Given the description of an element on the screen output the (x, y) to click on. 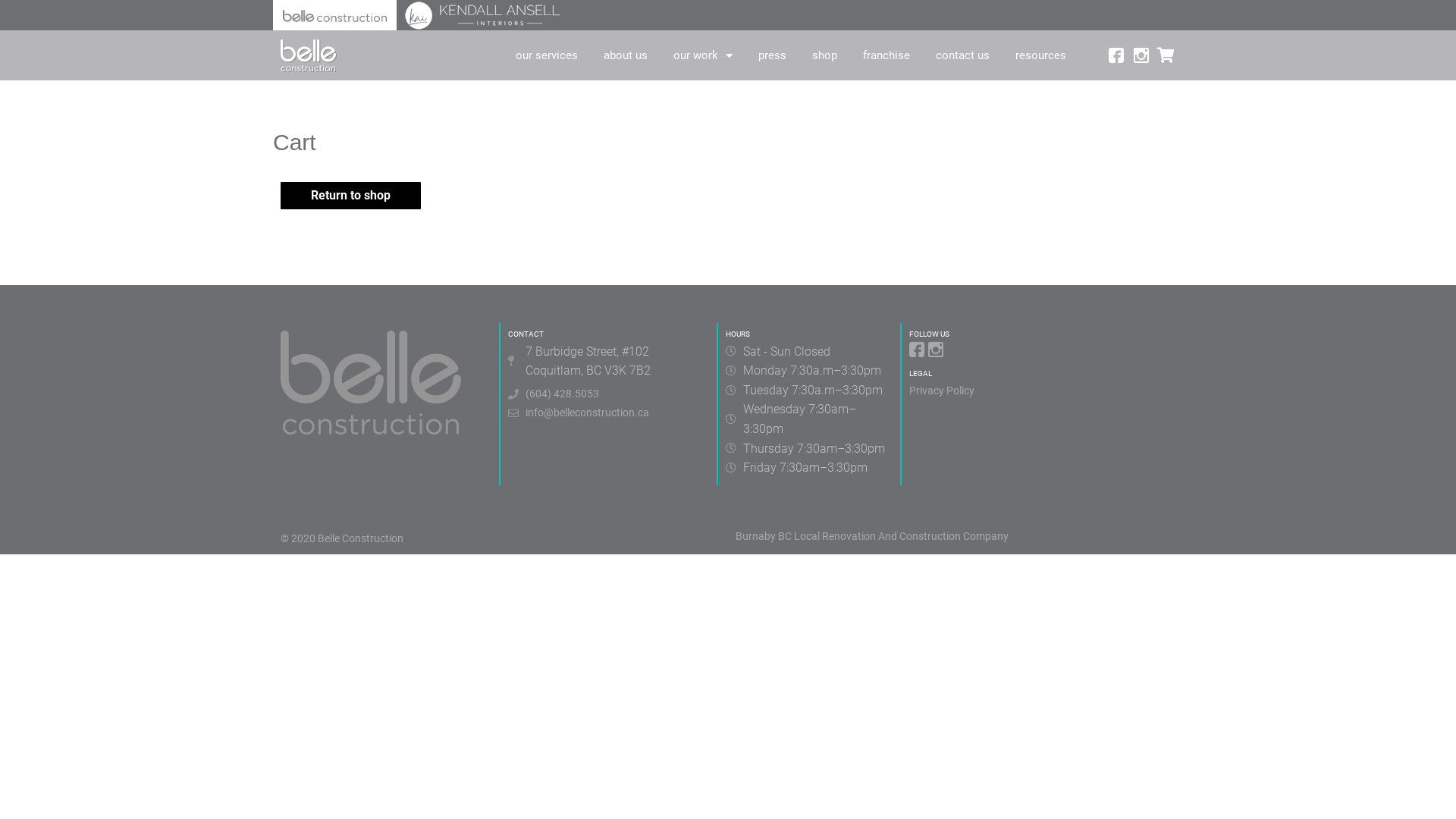
franchise Element type: text (886, 54)
our work Element type: text (702, 54)
press Element type: text (772, 54)
about us Element type: text (625, 54)
our services Element type: text (546, 54)
Privacy Policy Element type: text (1042, 391)
resources Element type: text (1040, 54)
contact us Element type: text (962, 54)
(604) 428.5053 Element type: text (608, 394)
shop Element type: text (824, 54)
7 Burbidge Street, #102 Coquitlam, BC V3K 7B2 Element type: text (608, 361)
info@belleconstruction.ca Element type: text (608, 413)
Return to shop Element type: text (350, 195)
